Given the description of an element on the screen output the (x, y) to click on. 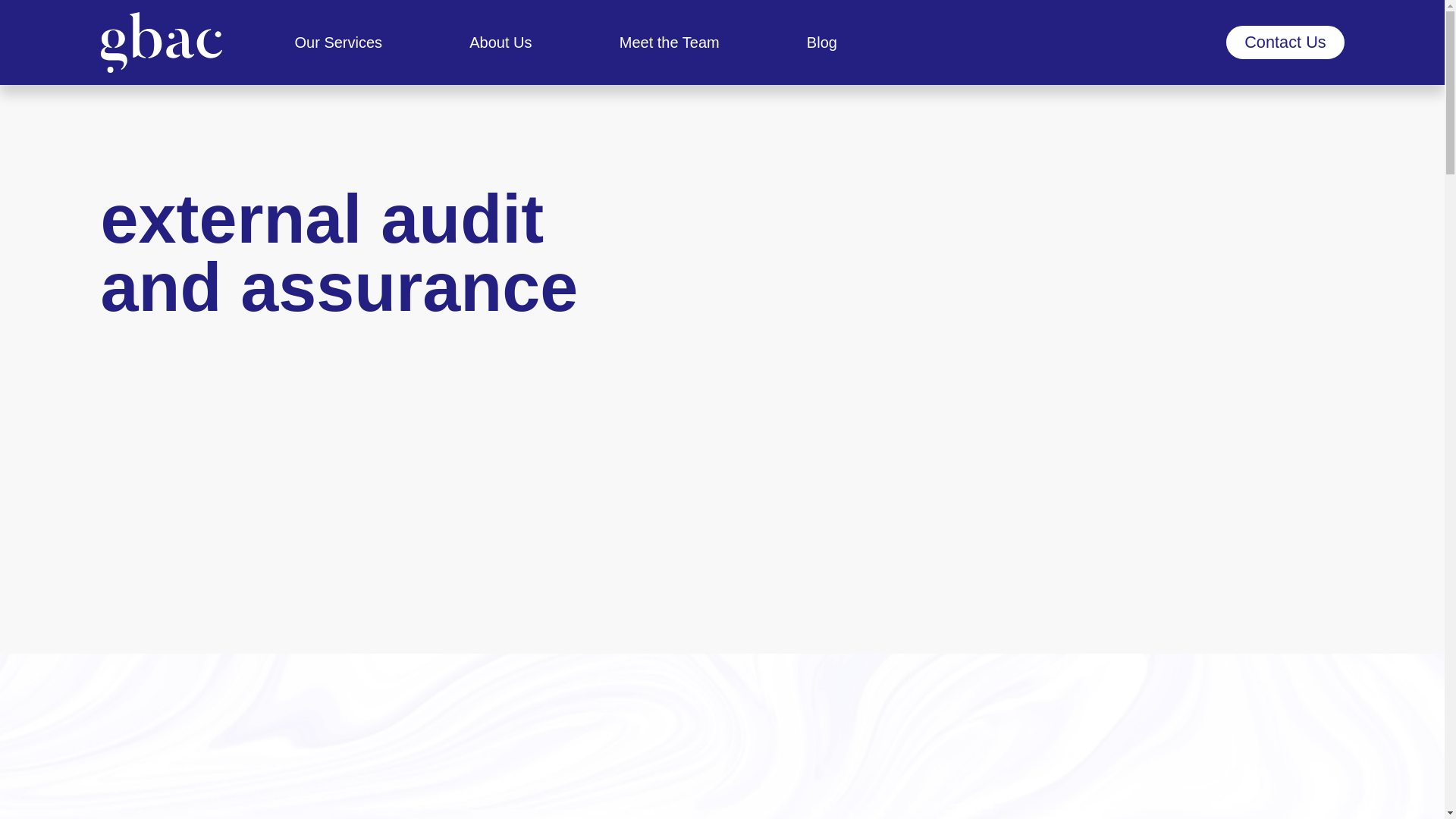
Our Services (337, 42)
Meet the Team (669, 42)
Contact Us (1284, 41)
About Us (499, 42)
Blog (821, 42)
